Given the description of an element on the screen output the (x, y) to click on. 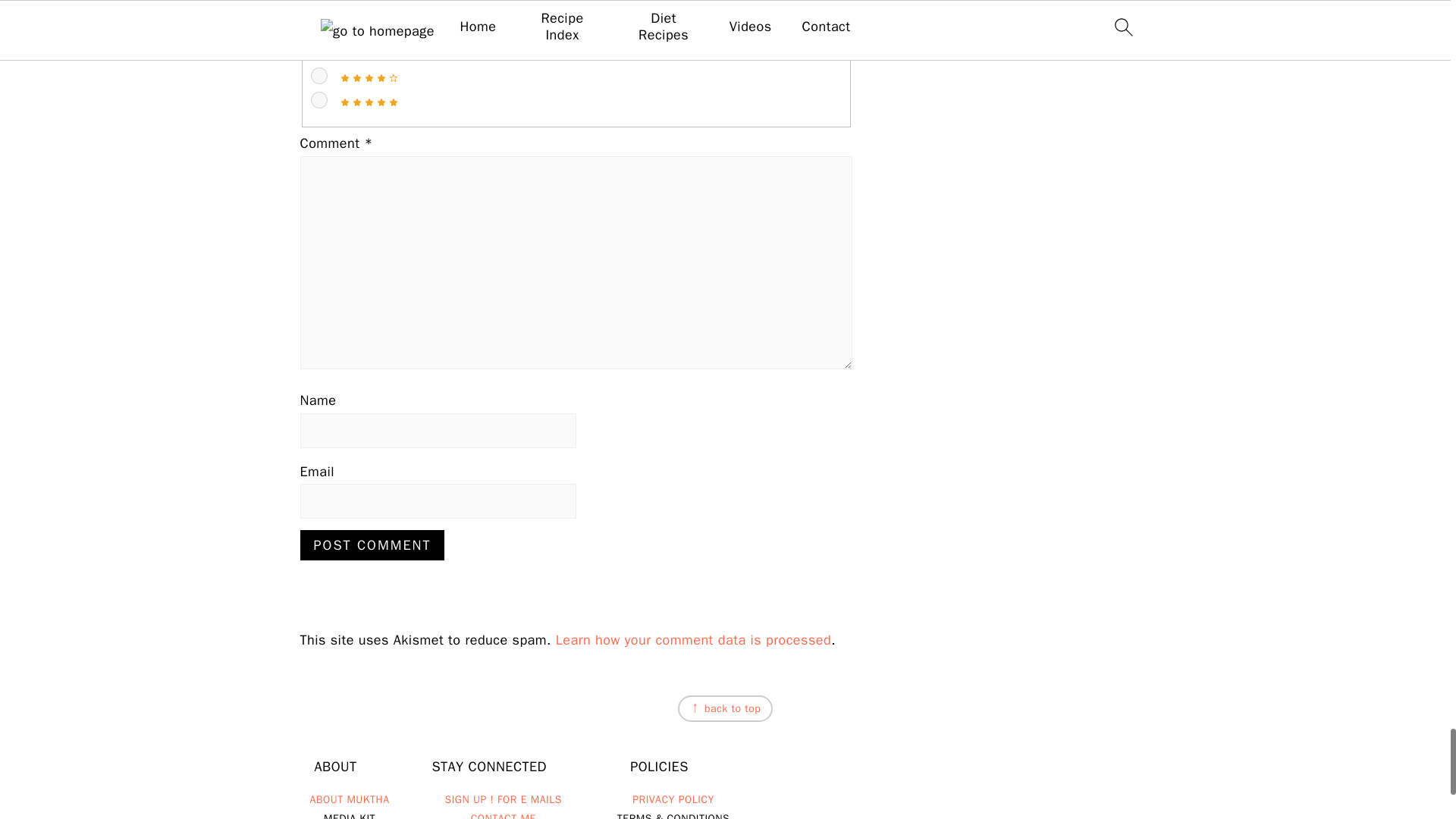
1 (319, 5)
4 (319, 75)
5 (319, 99)
3 (319, 51)
2 (319, 26)
Post Comment (372, 544)
